Given the description of an element on the screen output the (x, y) to click on. 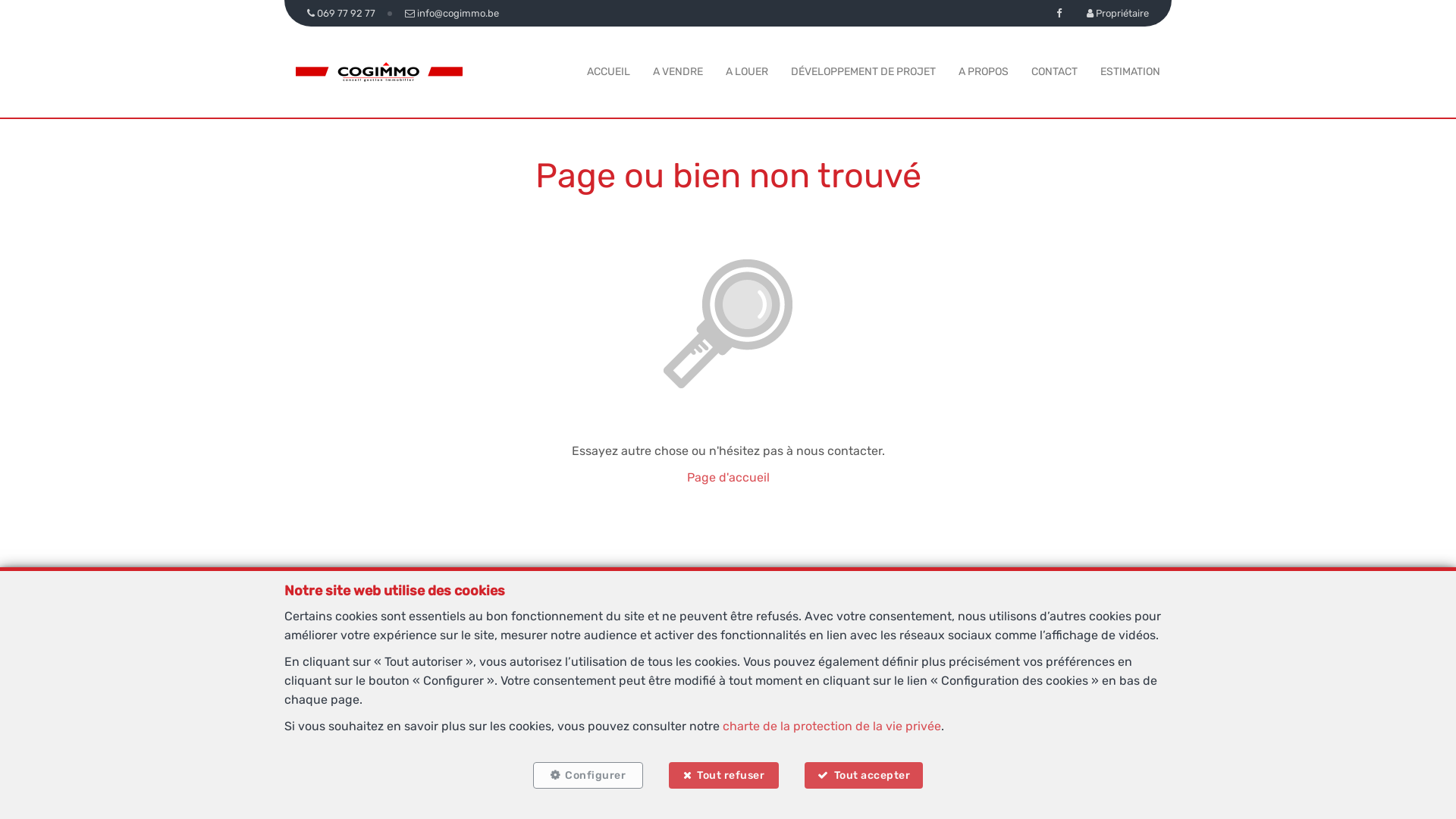
069 77 92 77 Element type: text (690, 664)
069 77 92 77 Element type: text (343, 13)
CONTACT Element type: text (1054, 71)
POWERED BY WHISE Element type: text (592, 803)
Tout accepter Element type: text (863, 775)
info@cogimmo.be Element type: text (774, 664)
DESIGNED AND DEVELOPED BY WEBULOUS.IO Element type: text (791, 803)
Configurer Element type: text (588, 775)
ESTIMATION Element type: text (1130, 71)
A LOUER Element type: text (746, 71)
A VENDRE Element type: text (677, 71)
A PROPOS Element type: text (983, 71)
Configuration des cookies Element type: text (909, 770)
Tout refuser Element type: text (723, 775)
Page d'accueil Element type: text (728, 477)
info@cogimmo.be Element type: text (451, 13)
ACCUEIL Element type: text (608, 71)
